Given the description of an element on the screen output the (x, y) to click on. 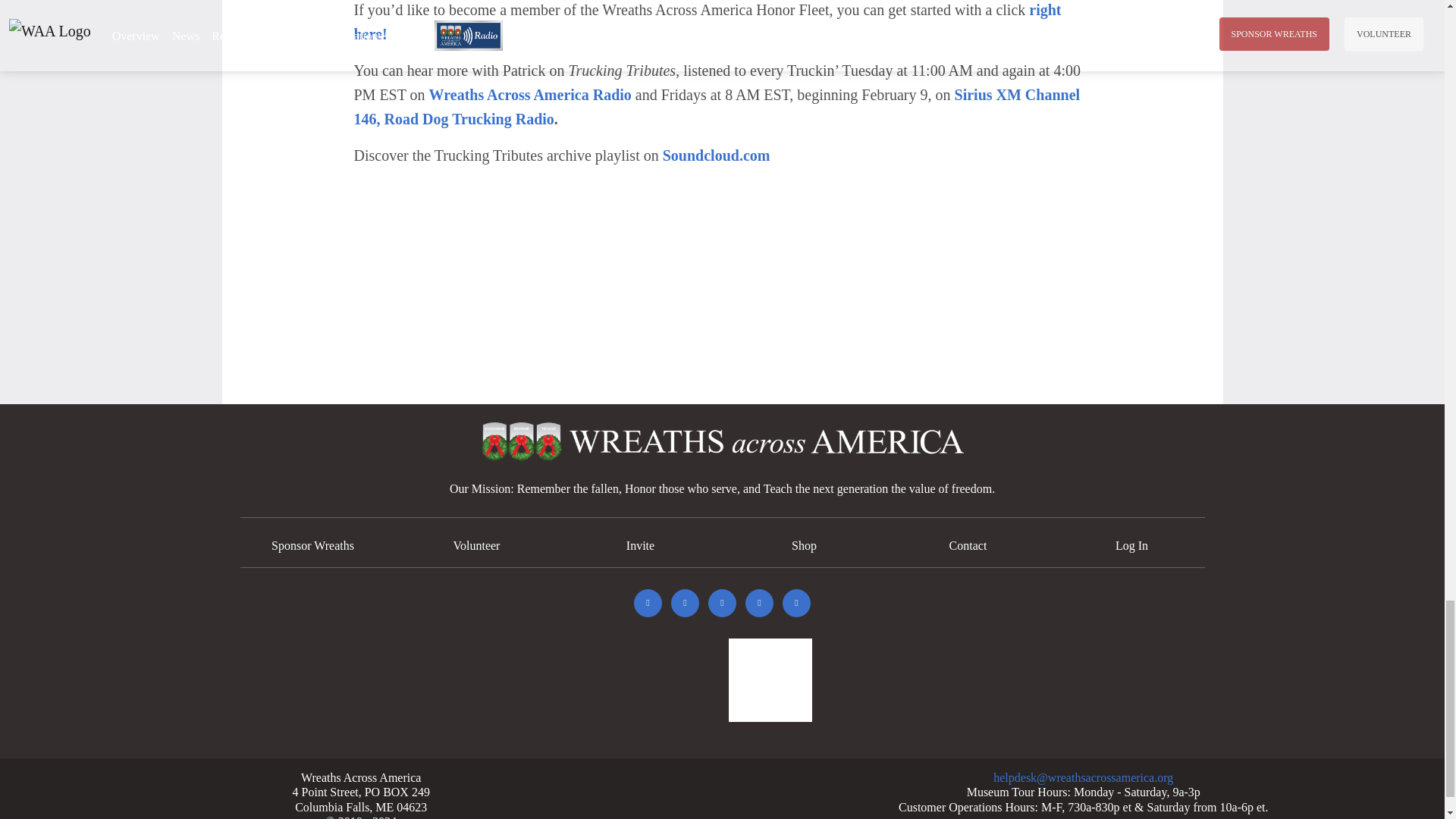
Sirius XM Channel 146, Road Dog Trucking Radio (716, 106)
Sponsor Wreaths (311, 545)
Contact (968, 545)
Soundcloud.com (716, 155)
Invite (639, 545)
right here! (707, 21)
Wreaths Across America Radio (530, 94)
Shop (804, 545)
Volunteer (476, 545)
Log In (1131, 545)
